Given the description of an element on the screen output the (x, y) to click on. 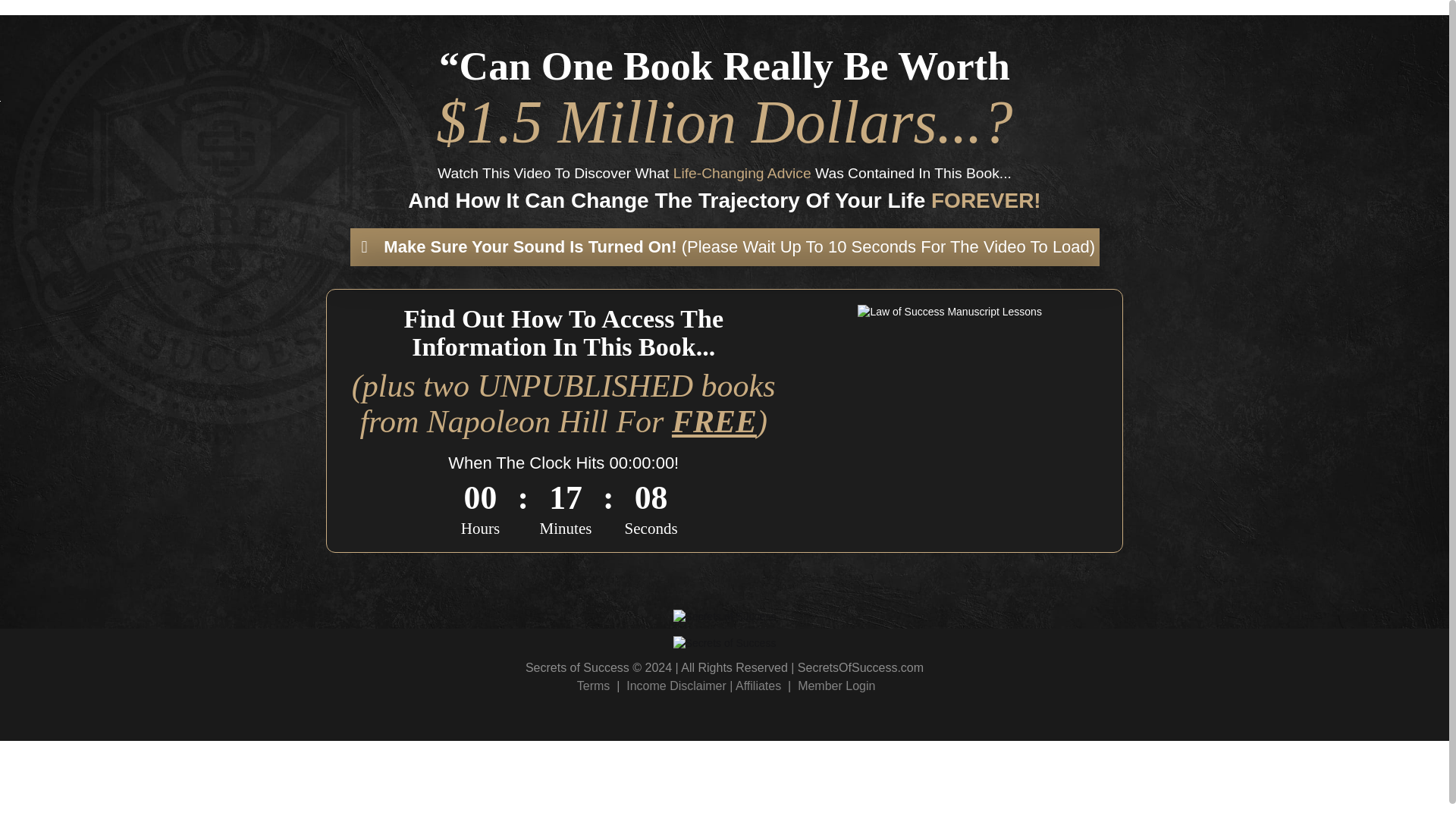
Terms (593, 685)
Member Login (836, 685)
Affiliates (757, 685)
